Given the description of an element on the screen output the (x, y) to click on. 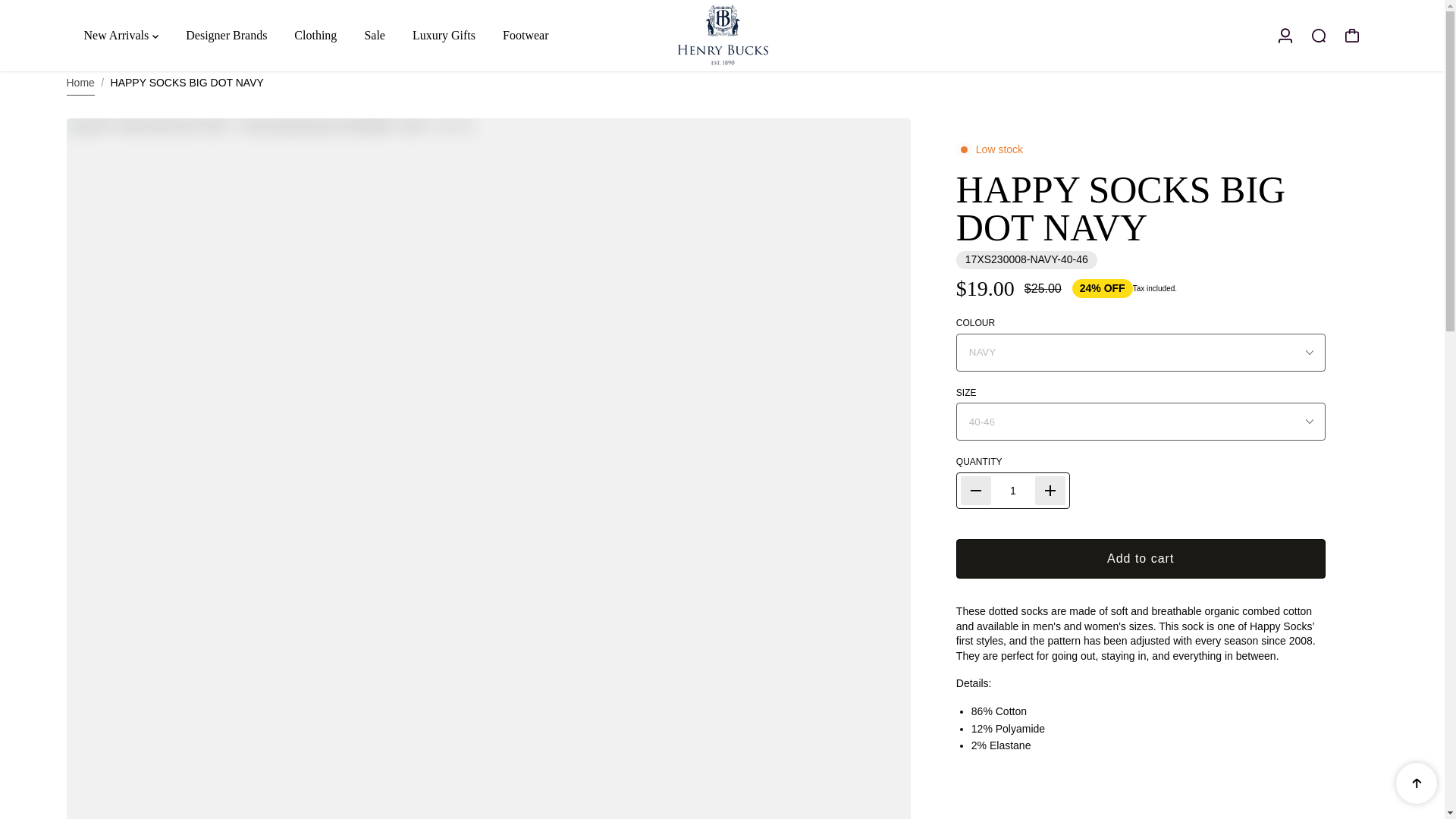
Search (1318, 35)
Footwear (525, 35)
1 (1013, 490)
New Arrivals (120, 35)
Add to cart (1140, 558)
Luxury Gifts (443, 35)
Clothing (315, 35)
Home (80, 83)
Designer Brands (226, 35)
Home (80, 83)
